Given the description of an element on the screen output the (x, y) to click on. 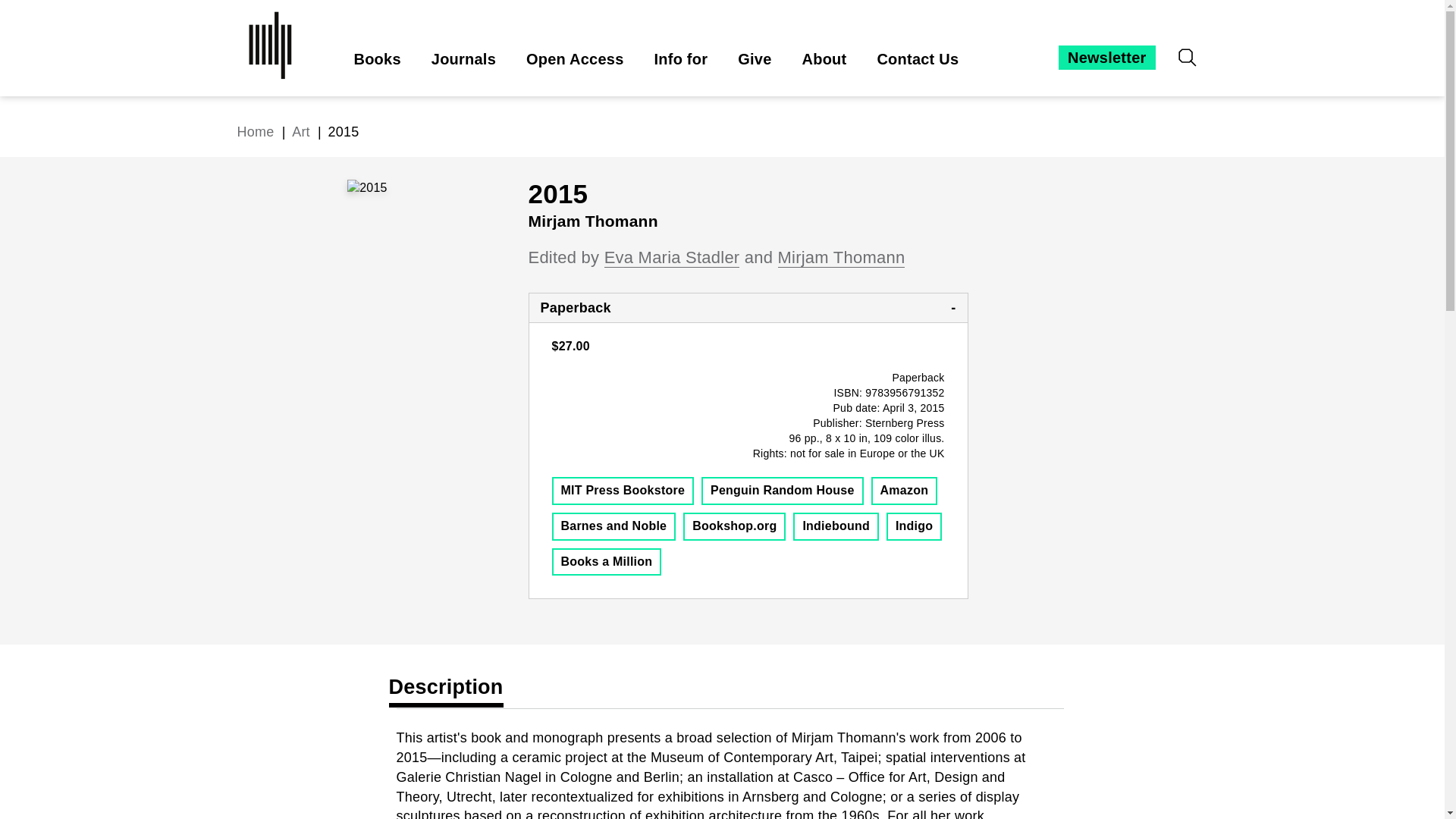
Books (376, 60)
Back to homepage (254, 131)
Newsletter (1106, 57)
Journals (463, 60)
View results for art (301, 131)
Open Access (574, 60)
